Given the description of an element on the screen output the (x, y) to click on. 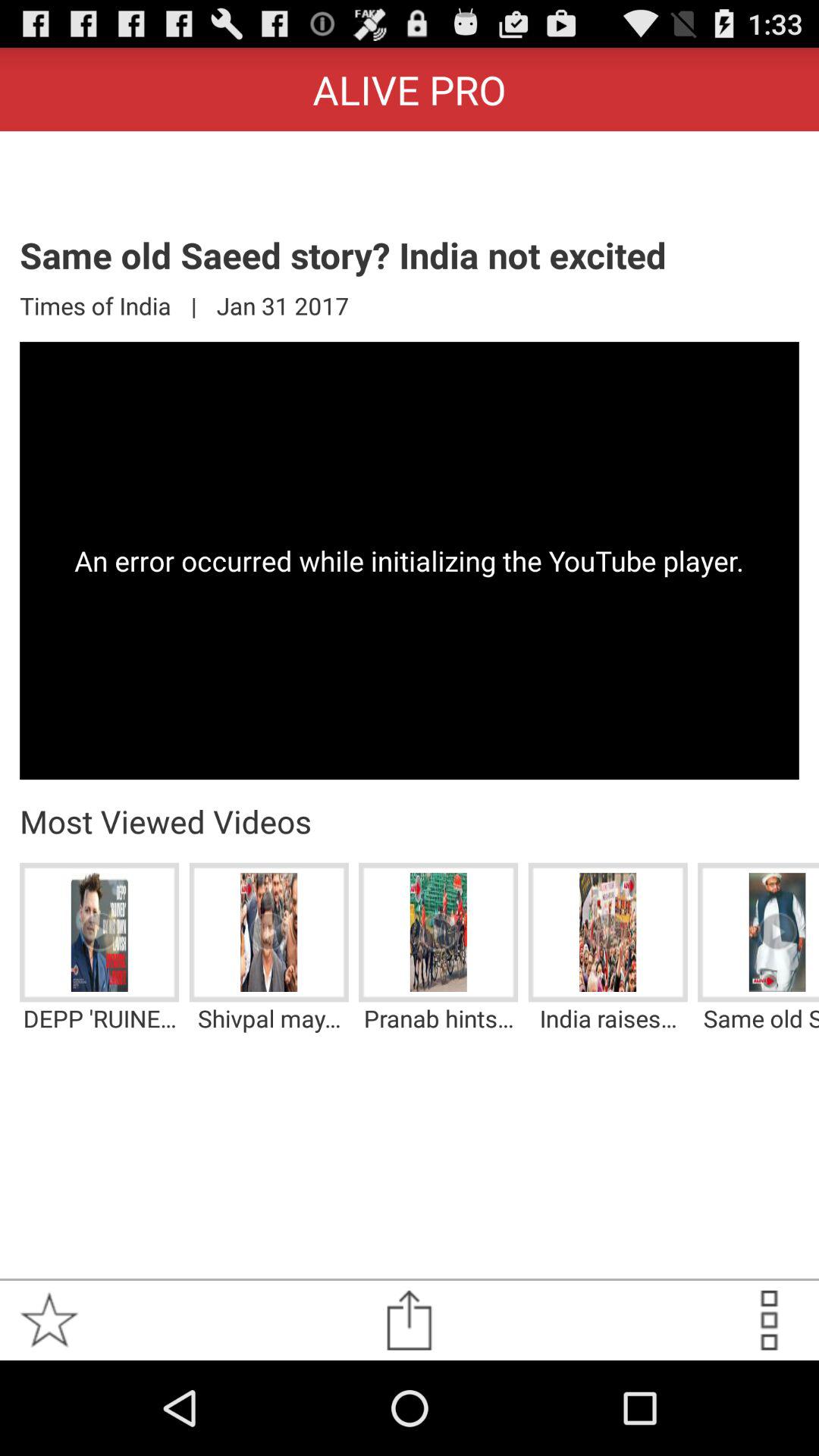
add to your queue (769, 1320)
